Given the description of an element on the screen output the (x, y) to click on. 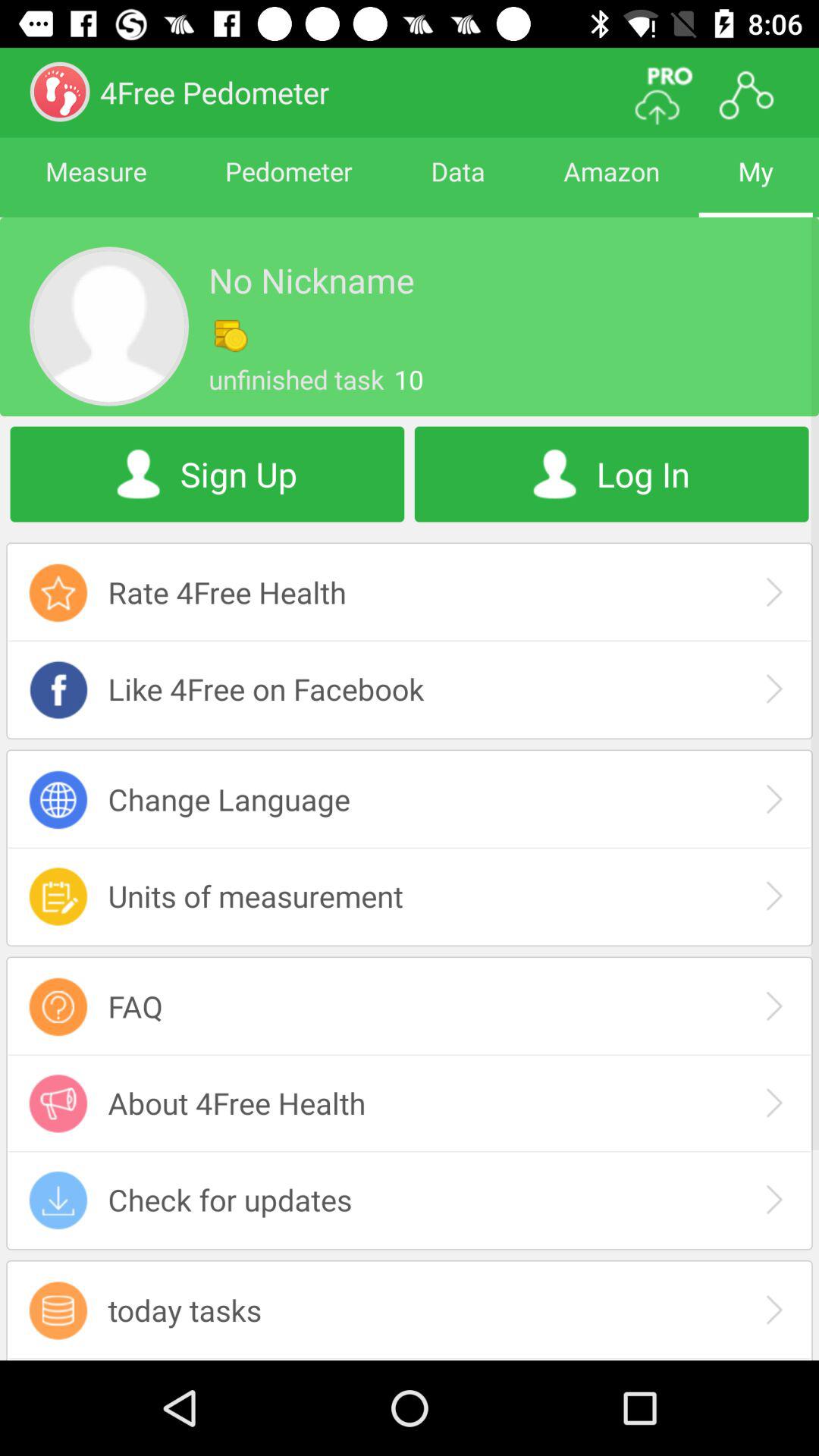
turn off icon next to the data item (611, 185)
